Given the description of an element on the screen output the (x, y) to click on. 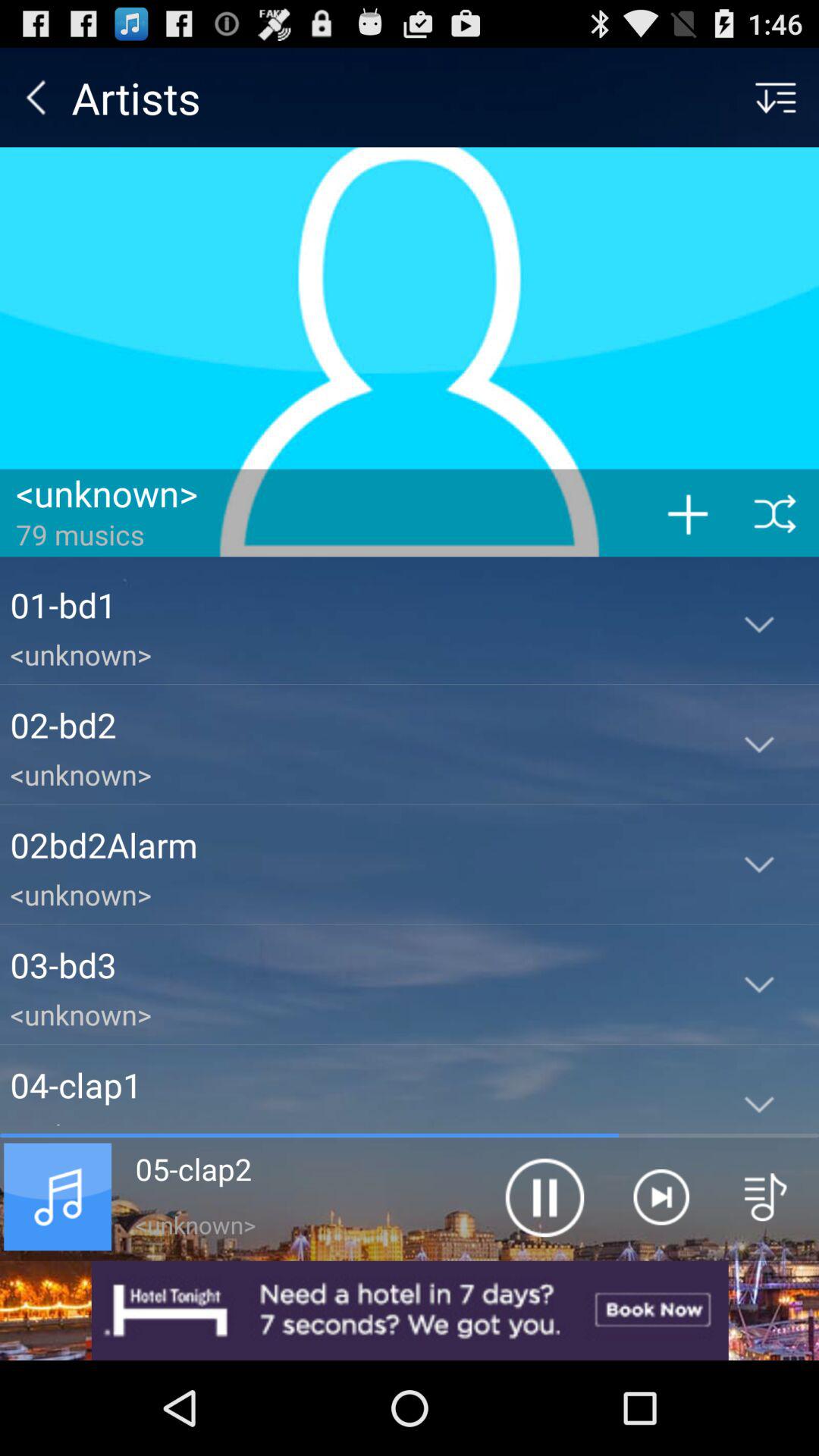
turn on the app next to the 06-crash1 app (543, 1197)
